Given the description of an element on the screen output the (x, y) to click on. 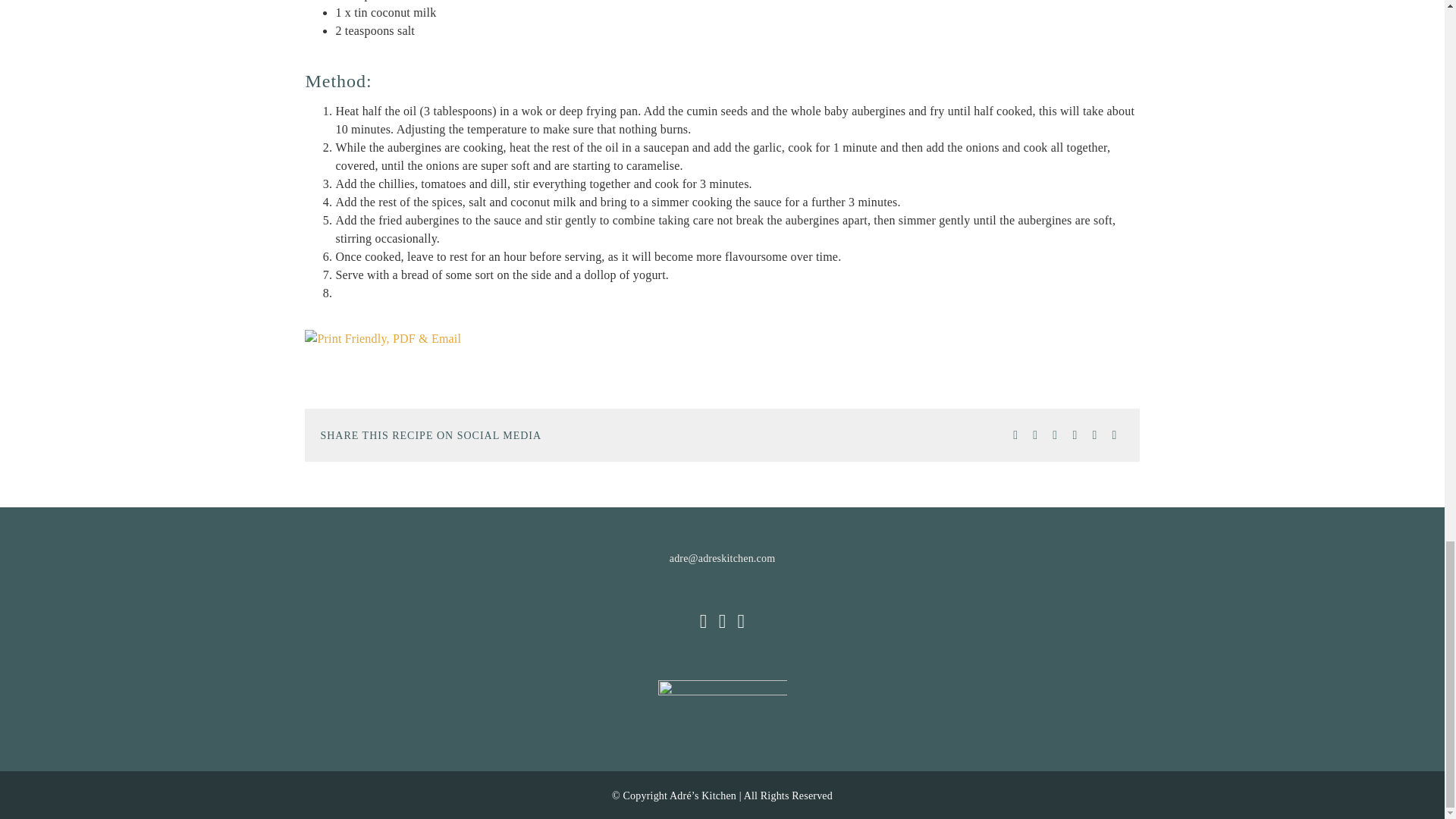
Facebook (1015, 435)
Reddit (1035, 435)
LinkedIn (1054, 435)
SHARE THIS RECIPE ON SOCIAL MEDIA (722, 419)
Tumblr (1074, 435)
Email (1113, 435)
Pinterest (1093, 435)
